Given the description of an element on the screen output the (x, y) to click on. 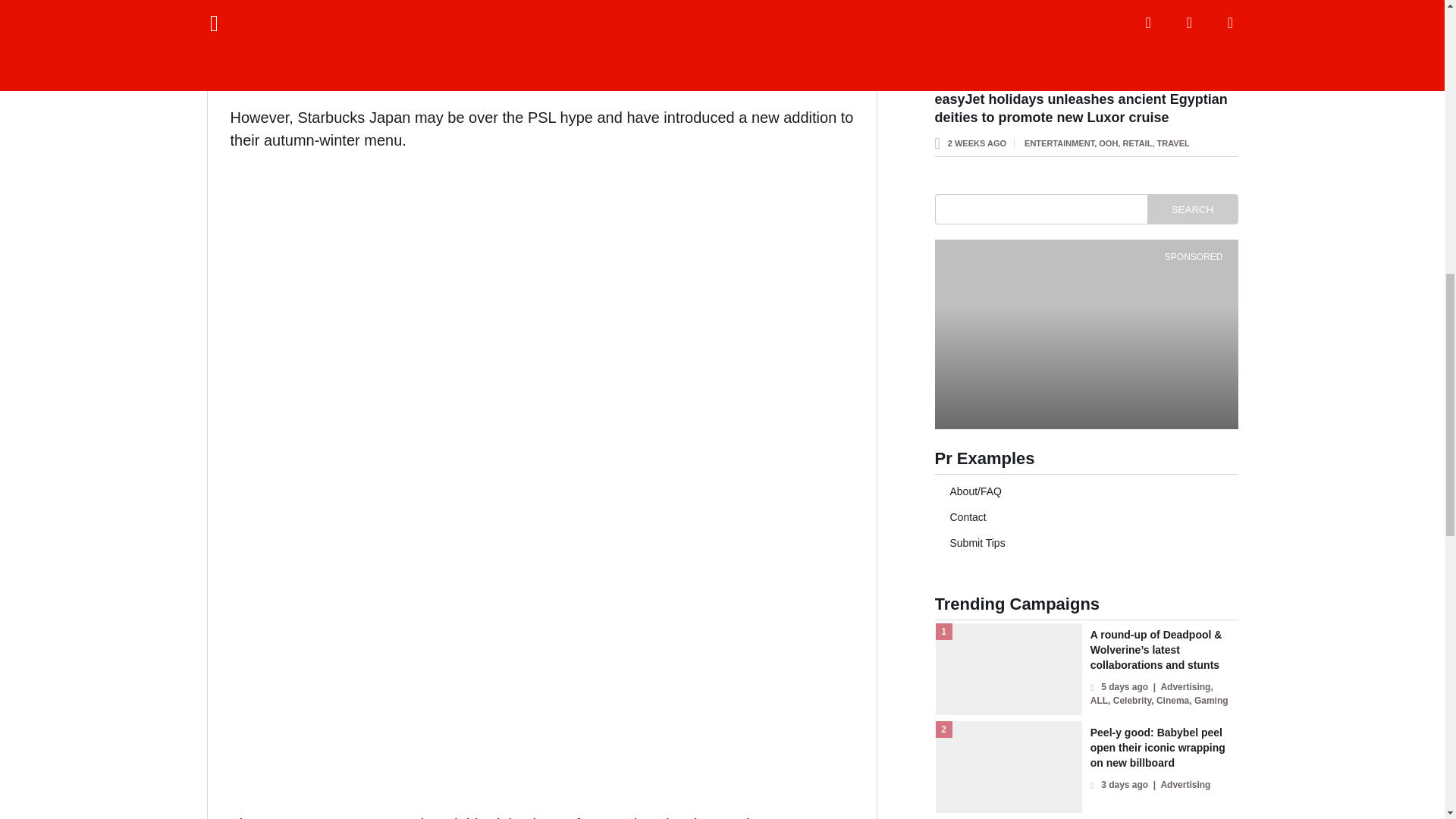
Search (1192, 209)
